Given the description of an element on the screen output the (x, y) to click on. 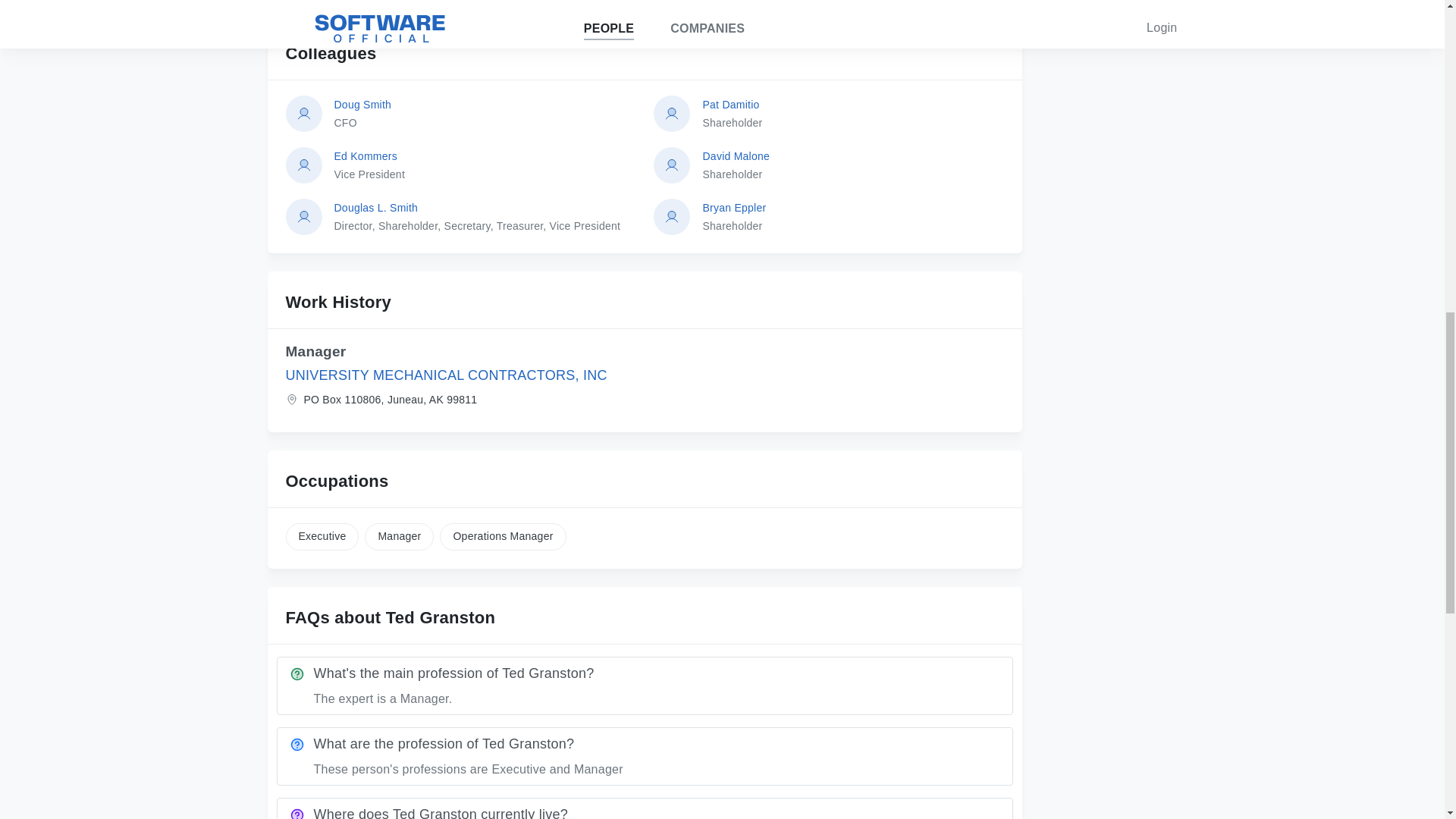
UNIVERSITY MECHANICAL CONTRACTORS, INC (852, 165)
